Given the description of an element on the screen output the (x, y) to click on. 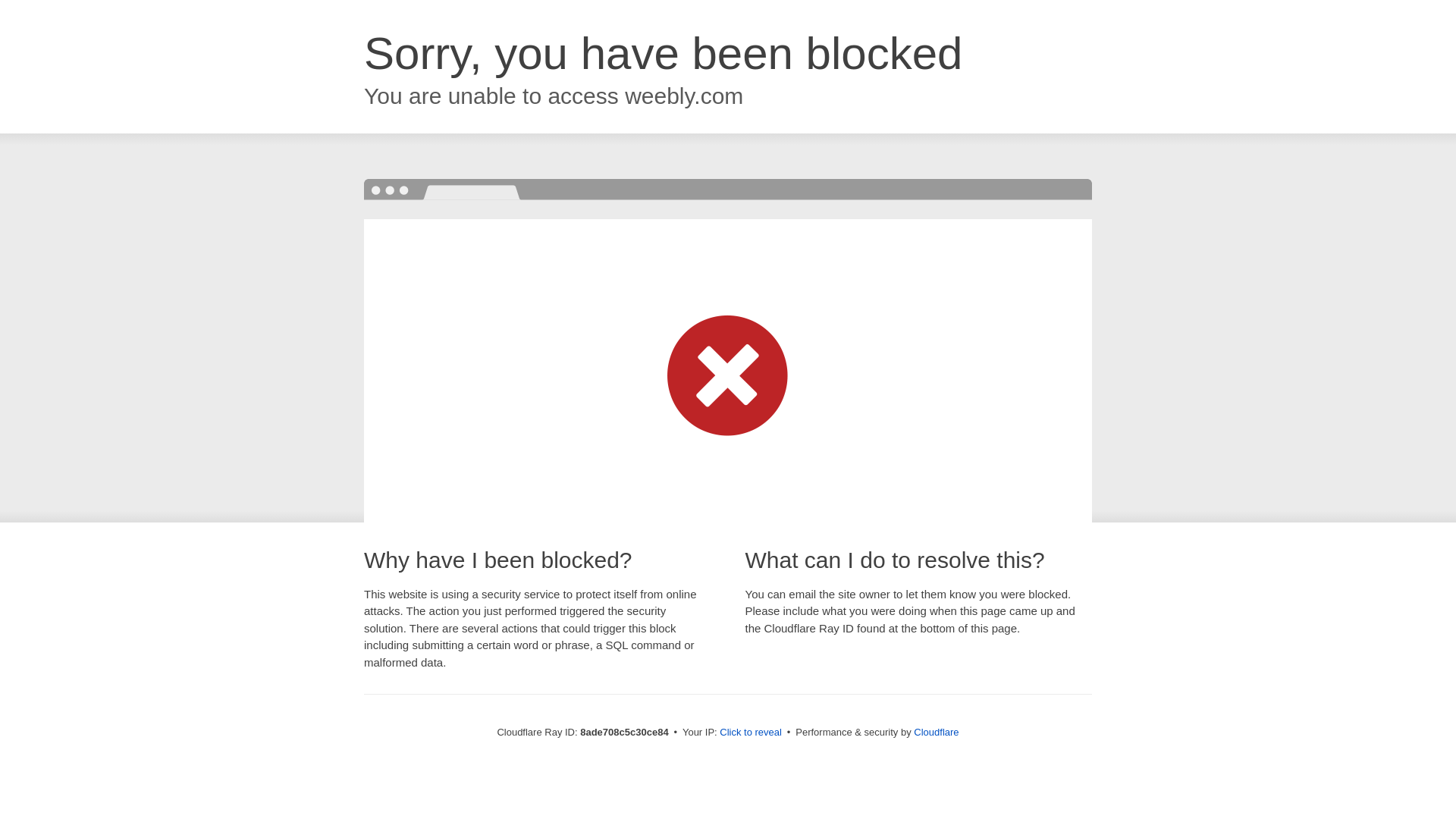
Click to reveal (750, 732)
Cloudflare (936, 731)
